Given the description of an element on the screen output the (x, y) to click on. 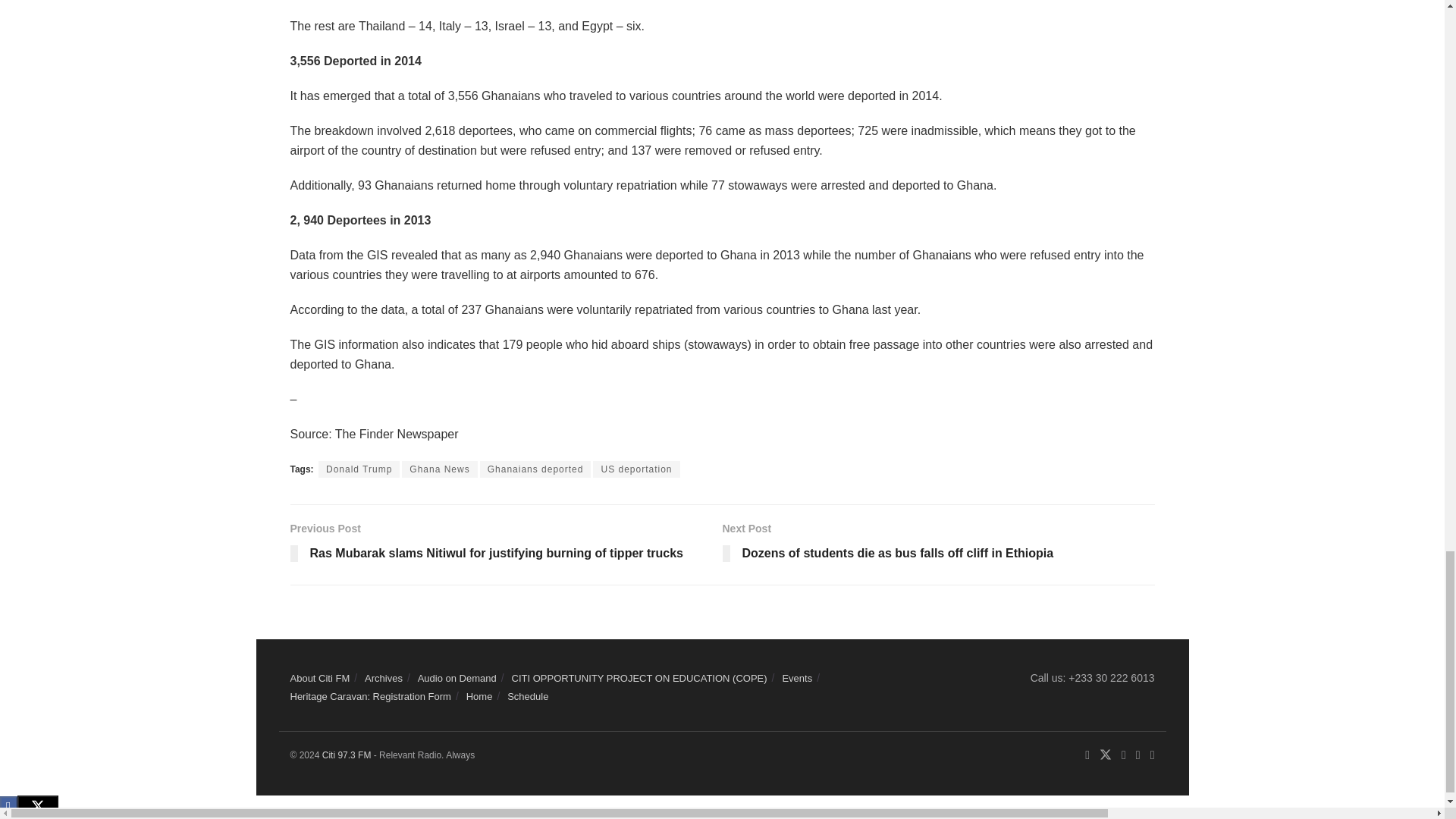
Ghanaians deported (535, 469)
Donald Trump (358, 469)
Ghana News (439, 469)
Citi 97.3 FM (346, 755)
